Given the description of an element on the screen output the (x, y) to click on. 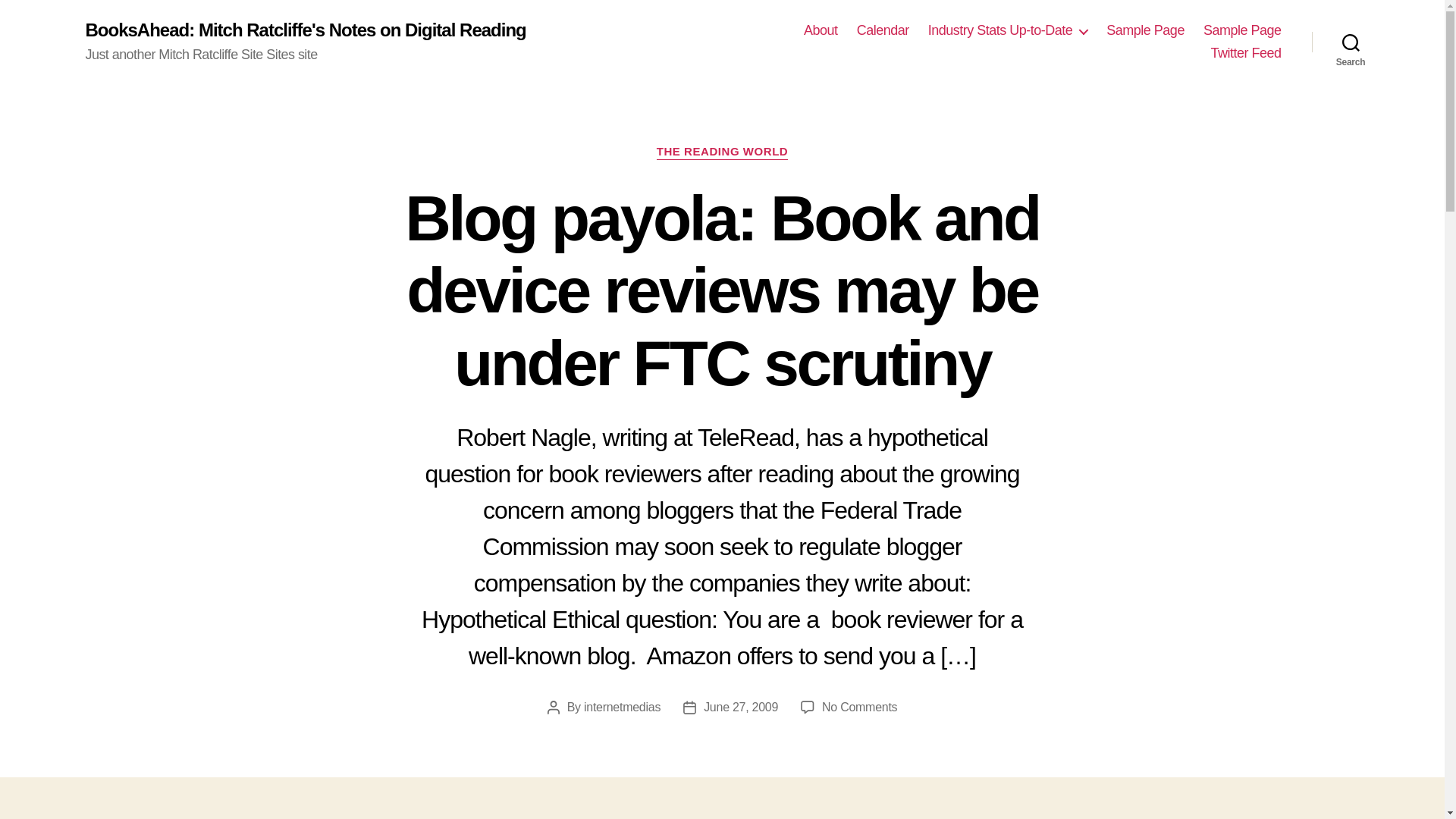
Industry Stats Up-to-Date (1007, 30)
About (820, 30)
BooksAhead: Mitch Ratcliffe's Notes on Digital Reading (304, 30)
Calendar (882, 30)
Sample Page (1145, 30)
THE READING WORLD (722, 151)
June 27, 2009 (740, 707)
Twitter Feed (1245, 53)
internetmedias (622, 707)
